Given the description of an element on the screen output the (x, y) to click on. 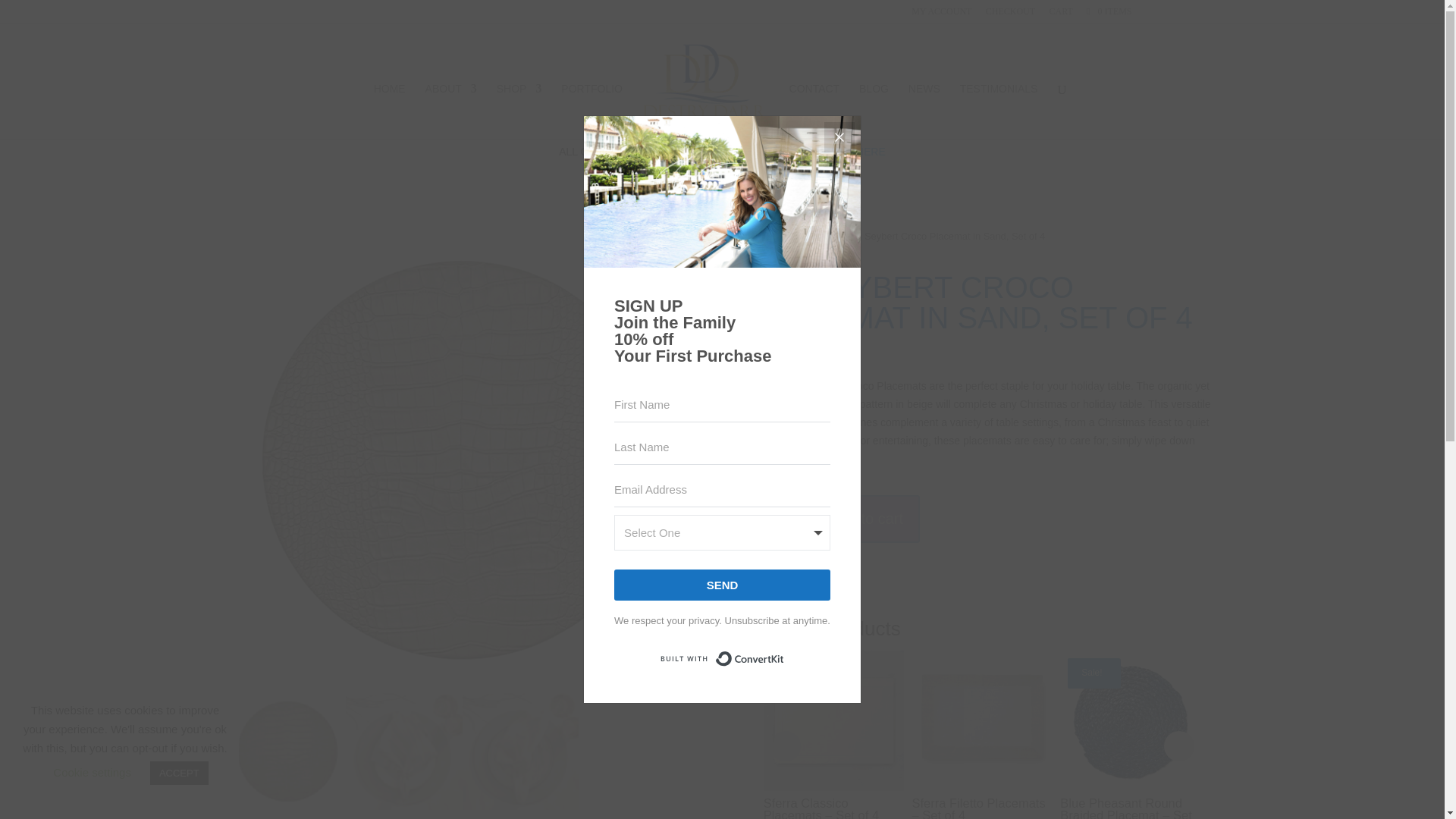
0 ITEMS (1108, 10)
MY ACCOUNT (941, 14)
ABOUT (451, 110)
PORTFOLIO (591, 110)
TESTIMONIALS (998, 110)
CHECKOUT (1010, 14)
CONTACT (814, 110)
CART (1059, 14)
1 (771, 518)
